Given the description of an element on the screen output the (x, y) to click on. 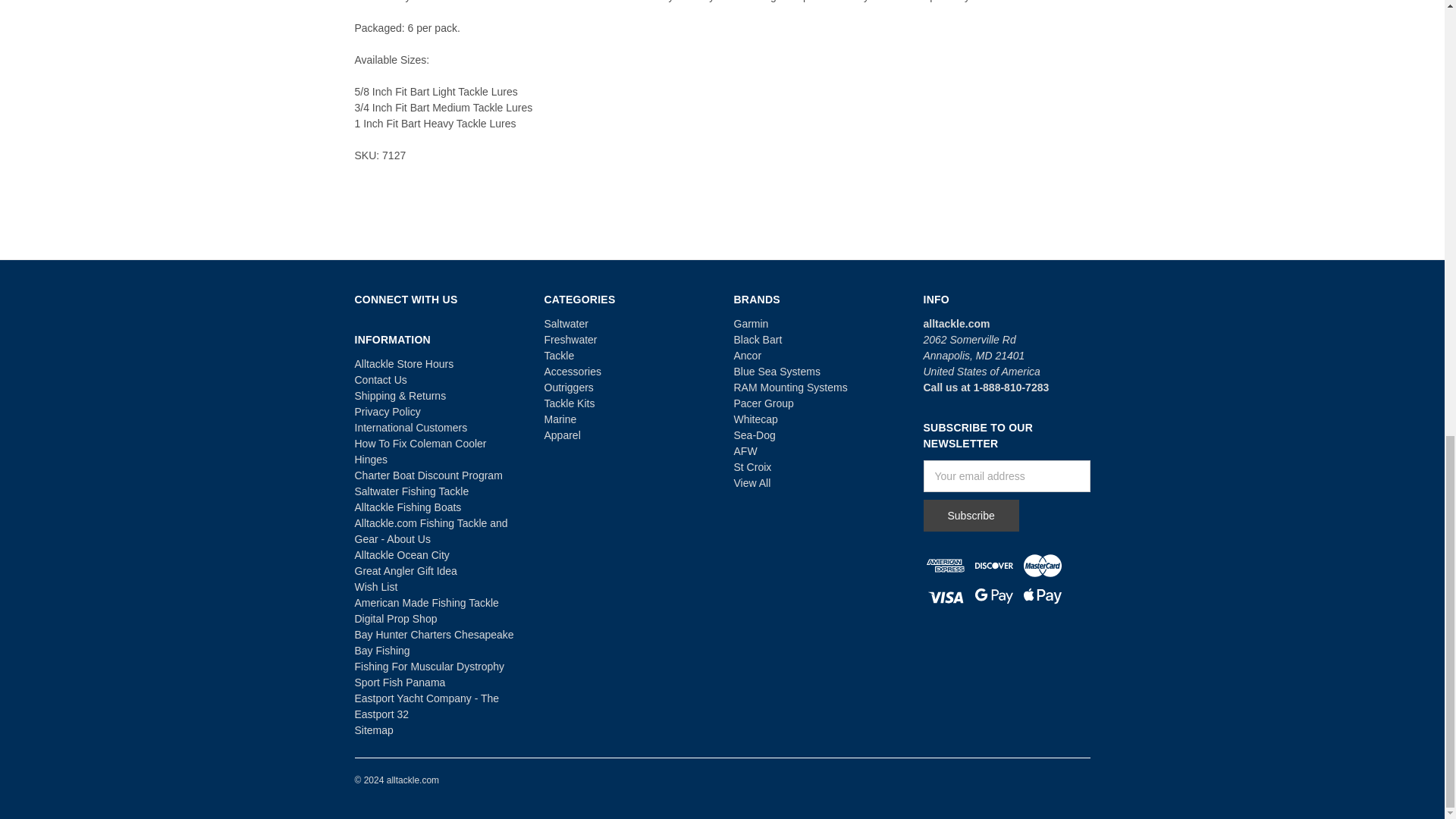
Subscribe (971, 515)
